Given the description of an element on the screen output the (x, y) to click on. 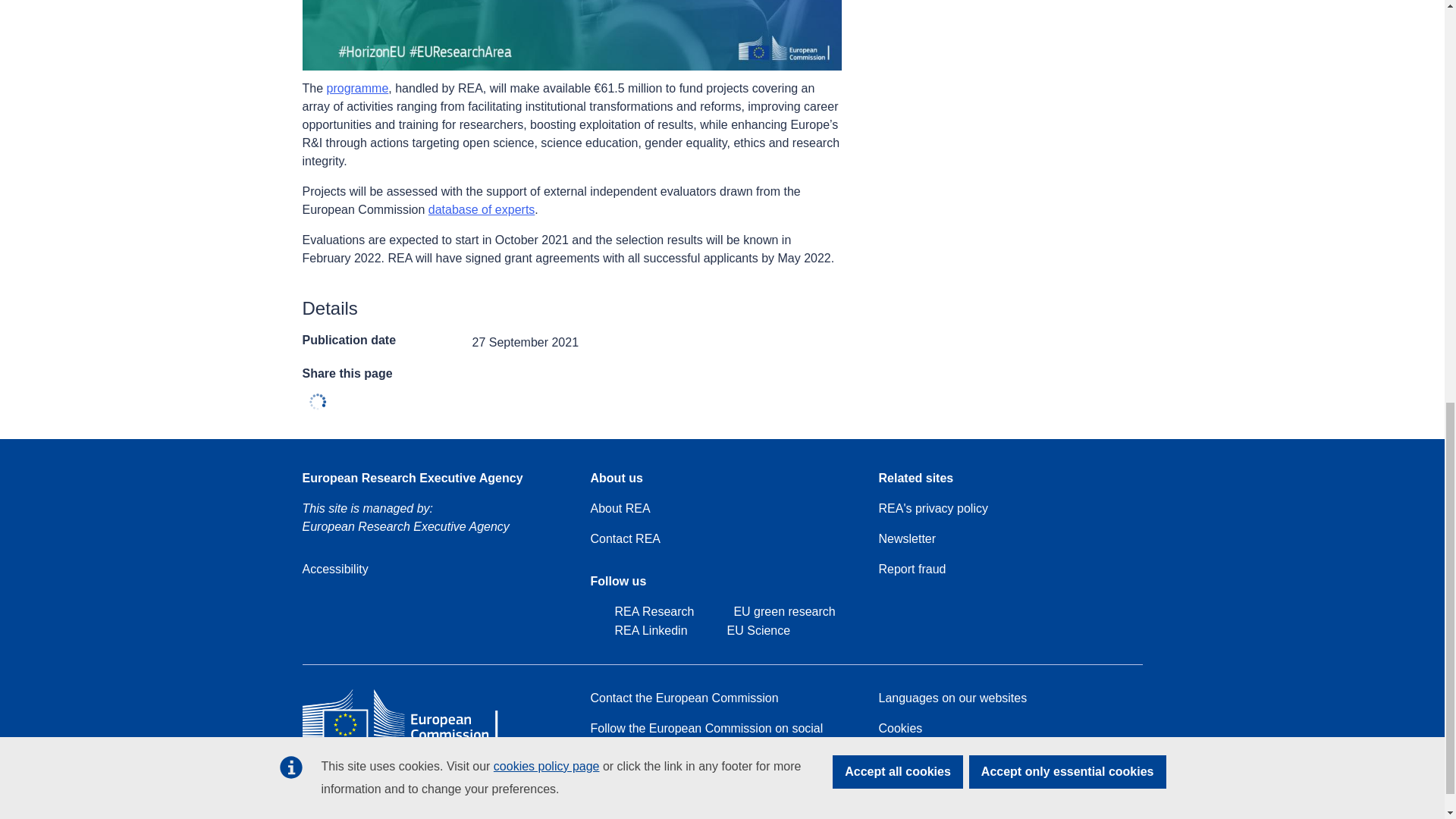
European Commission (411, 739)
